Given the description of an element on the screen output the (x, y) to click on. 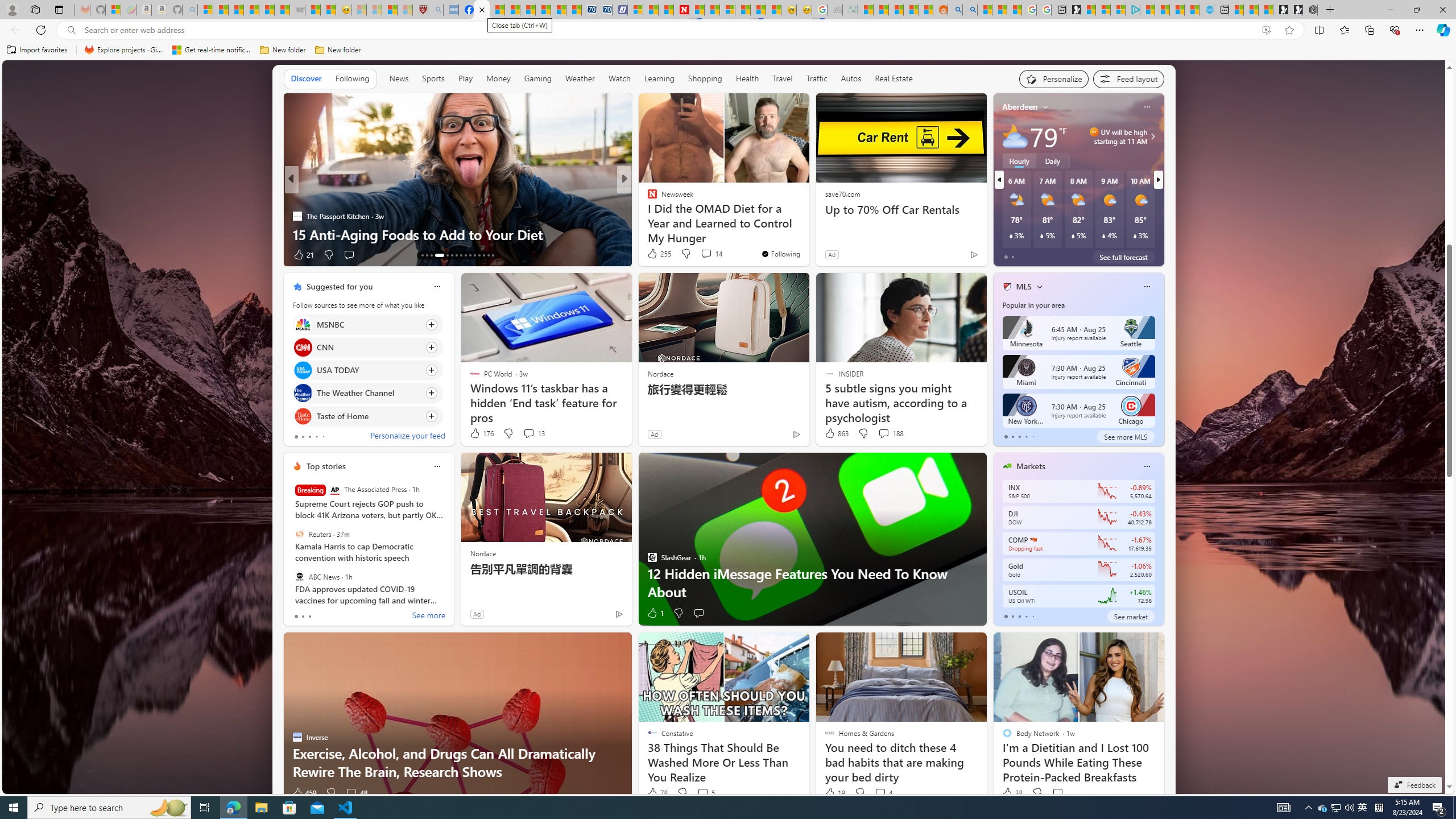
View comments 24 Comment (707, 254)
Sports (432, 79)
View comments 114 Comment (709, 254)
Skyler Mattress (665, 215)
5 Like (651, 254)
AutomationID: tab-75 (470, 255)
View comments 23 Comment (707, 254)
View comments 24 Comment (703, 254)
9 Like (651, 254)
